Given the description of an element on the screen output the (x, y) to click on. 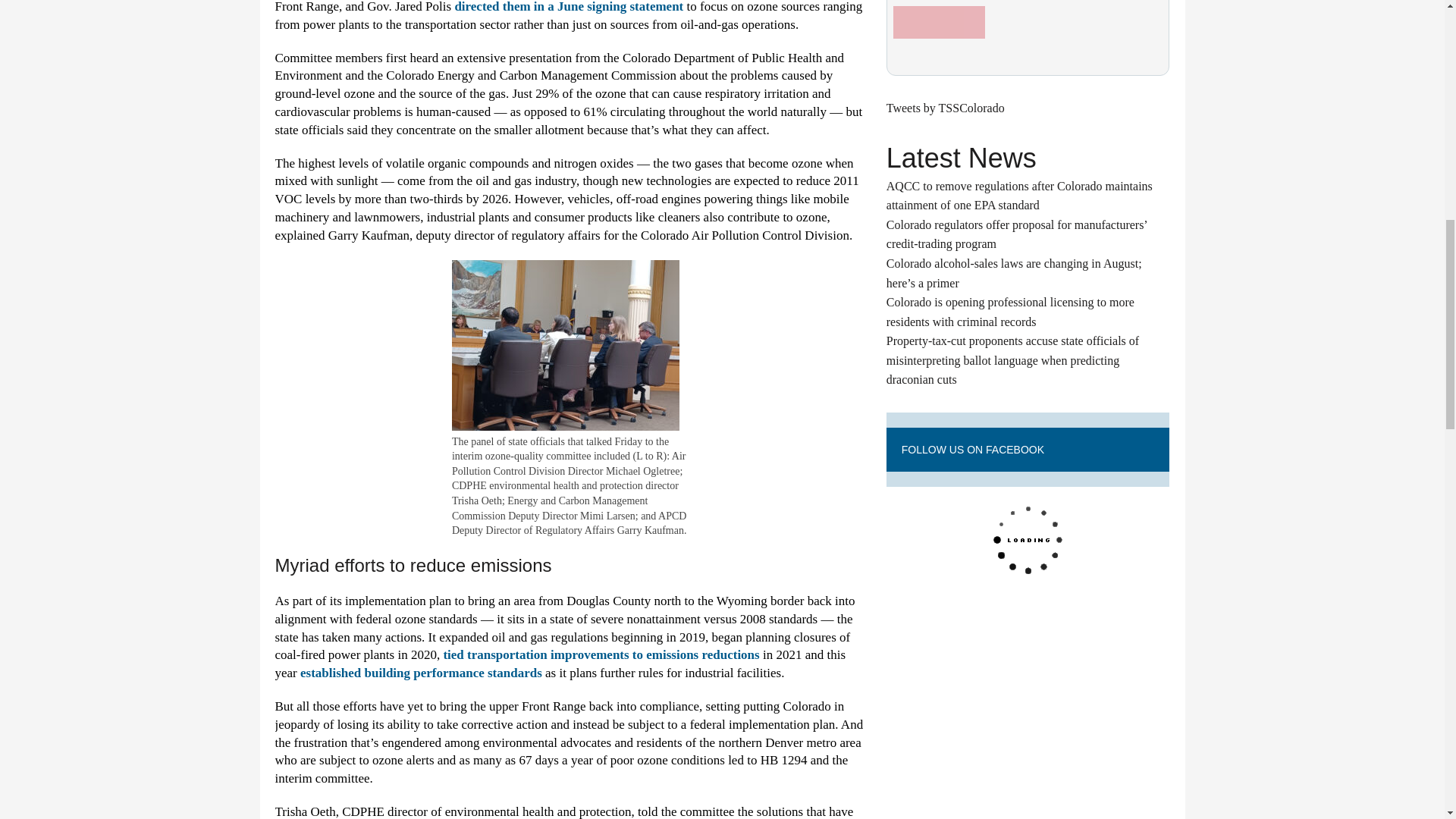
Sign Up (939, 22)
